Given the description of an element on the screen output the (x, y) to click on. 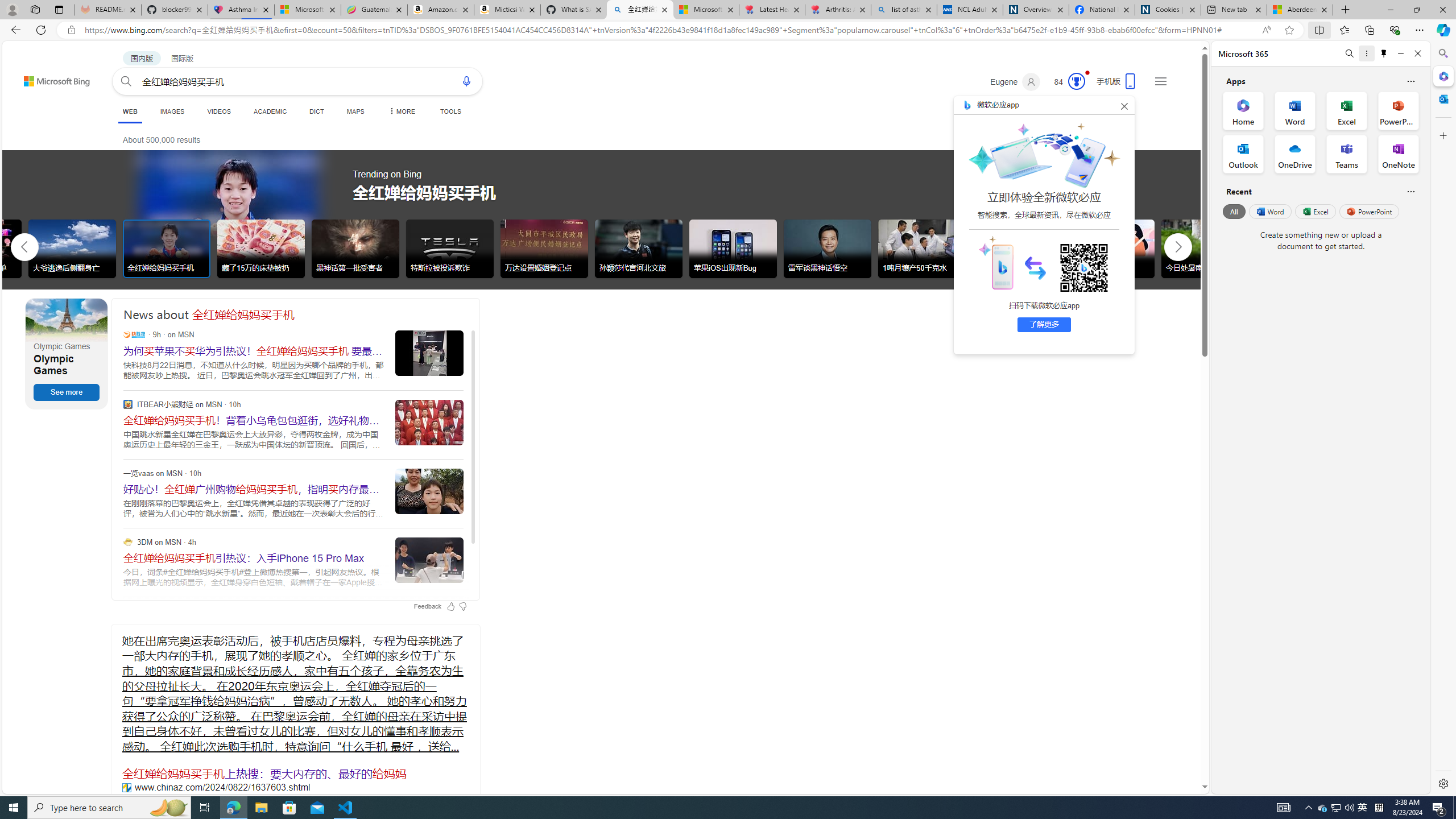
Teams Office App (1346, 154)
AutomationID: serp_medal_svg (1076, 81)
Home Office App (1243, 110)
PowerPoint Office App (1398, 110)
ACADEMIC (269, 111)
OneDrive Office App (1295, 154)
